Given the description of an element on the screen output the (x, y) to click on. 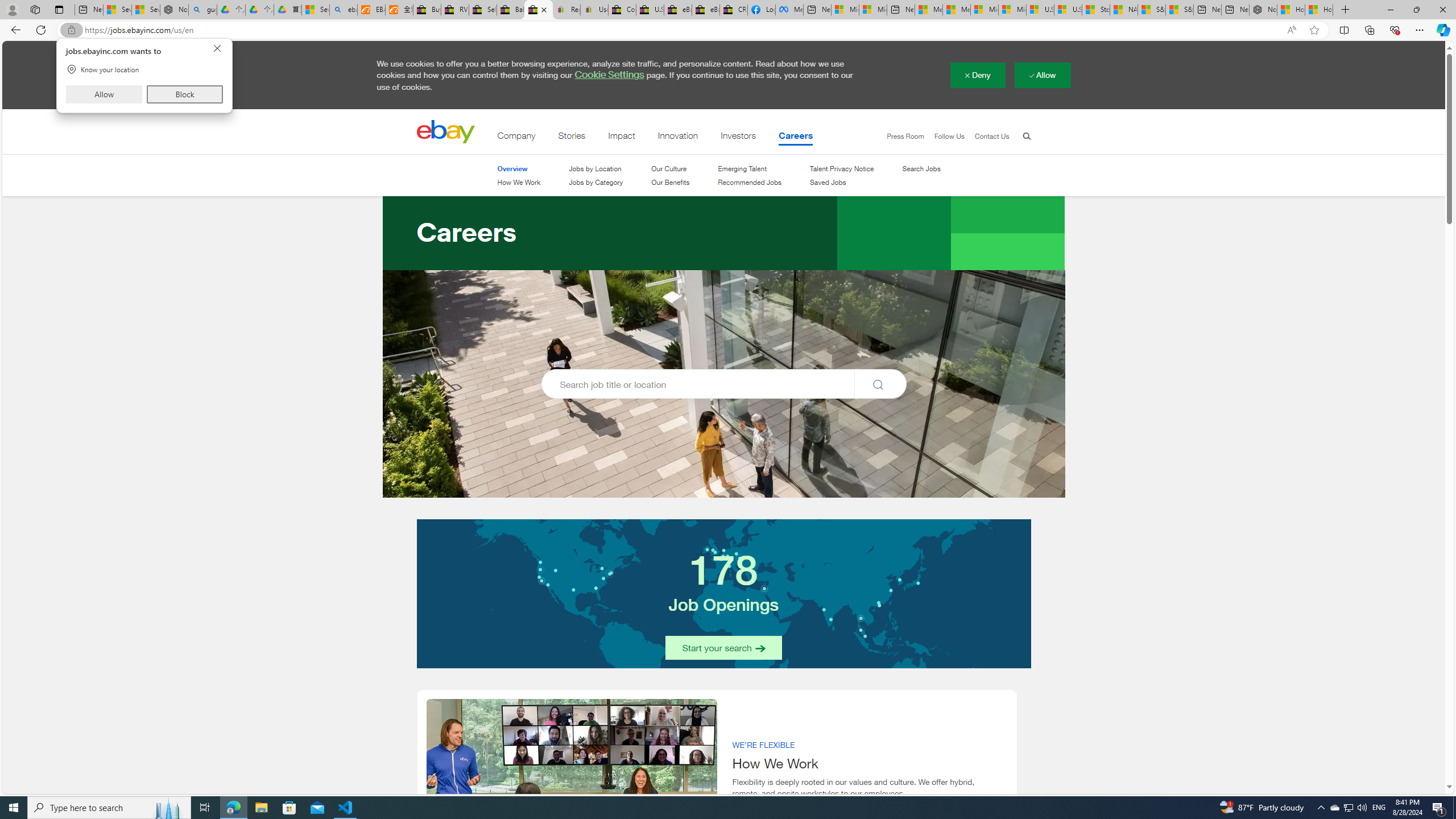
Careers (795, 138)
Sell worldwide with eBay (483, 9)
Task View (204, 807)
Innovation (678, 138)
Our Benefits (670, 182)
S&P 500, Nasdaq end lower, weighed by Nvidia dip | Watch (1179, 9)
Contact Us (986, 136)
How We Work (518, 181)
Register: Create a personal eBay account (566, 9)
Talent Privacy Notice (841, 168)
